Given the description of an element on the screen output the (x, y) to click on. 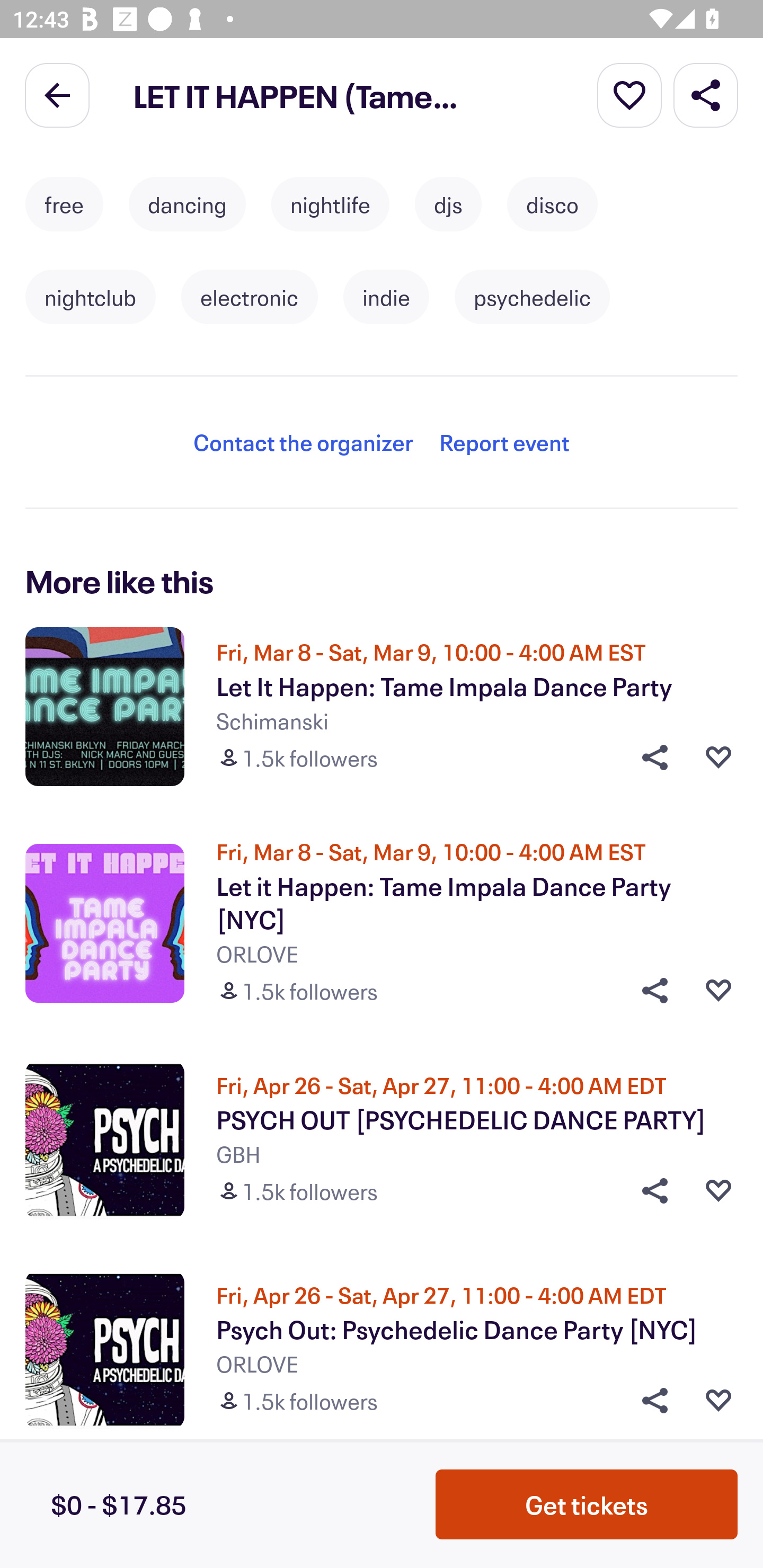
Back (57, 94)
More (629, 94)
Share (705, 94)
free (64, 204)
dancing (186, 204)
nightlife (330, 204)
djs (448, 204)
disco (552, 204)
nightclub (90, 296)
electronic (249, 296)
indie (385, 296)
psychedelic (531, 296)
Contact the organizer (303, 441)
Report event (504, 441)
Share (648, 756)
Like (718, 756)
Share (648, 989)
Like (718, 989)
Share (648, 1190)
Like (718, 1190)
Share (648, 1400)
Like (718, 1400)
Get tickets (586, 1504)
